Given the description of an element on the screen output the (x, y) to click on. 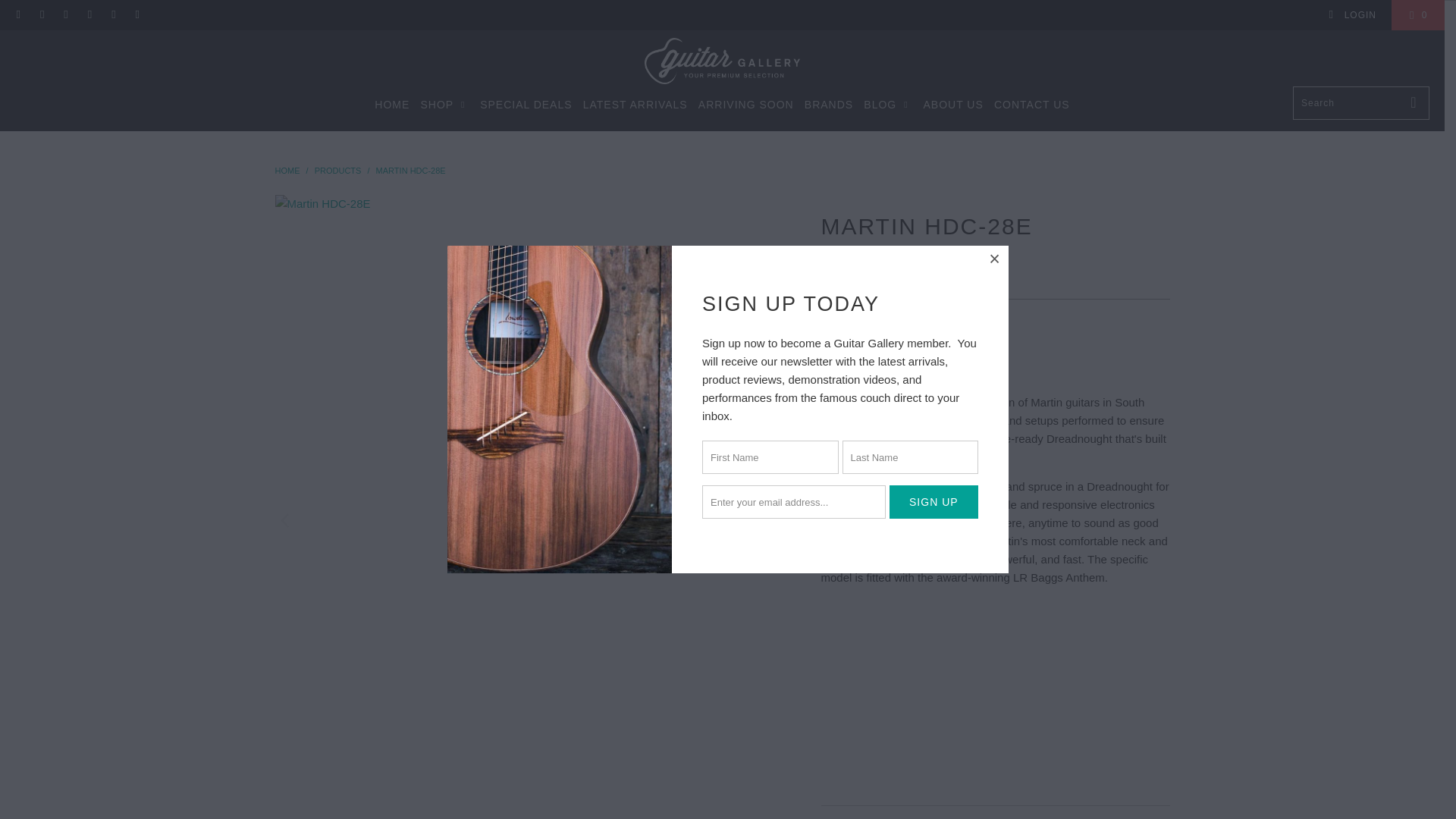
Sign Up (933, 501)
Guitar Gallery on Twitter (17, 14)
Guitar Gallery on Pinterest (89, 14)
Guitar Gallery on Facebook (41, 14)
My Account  (1351, 15)
Guitar Gallery (287, 170)
Products (337, 170)
Contact (961, 323)
Guitar Gallery on Instagram (112, 14)
Guitar Gallery on YouTube (65, 14)
Guitar Gallery (722, 61)
Email Guitar Gallery (136, 14)
